Given the description of an element on the screen output the (x, y) to click on. 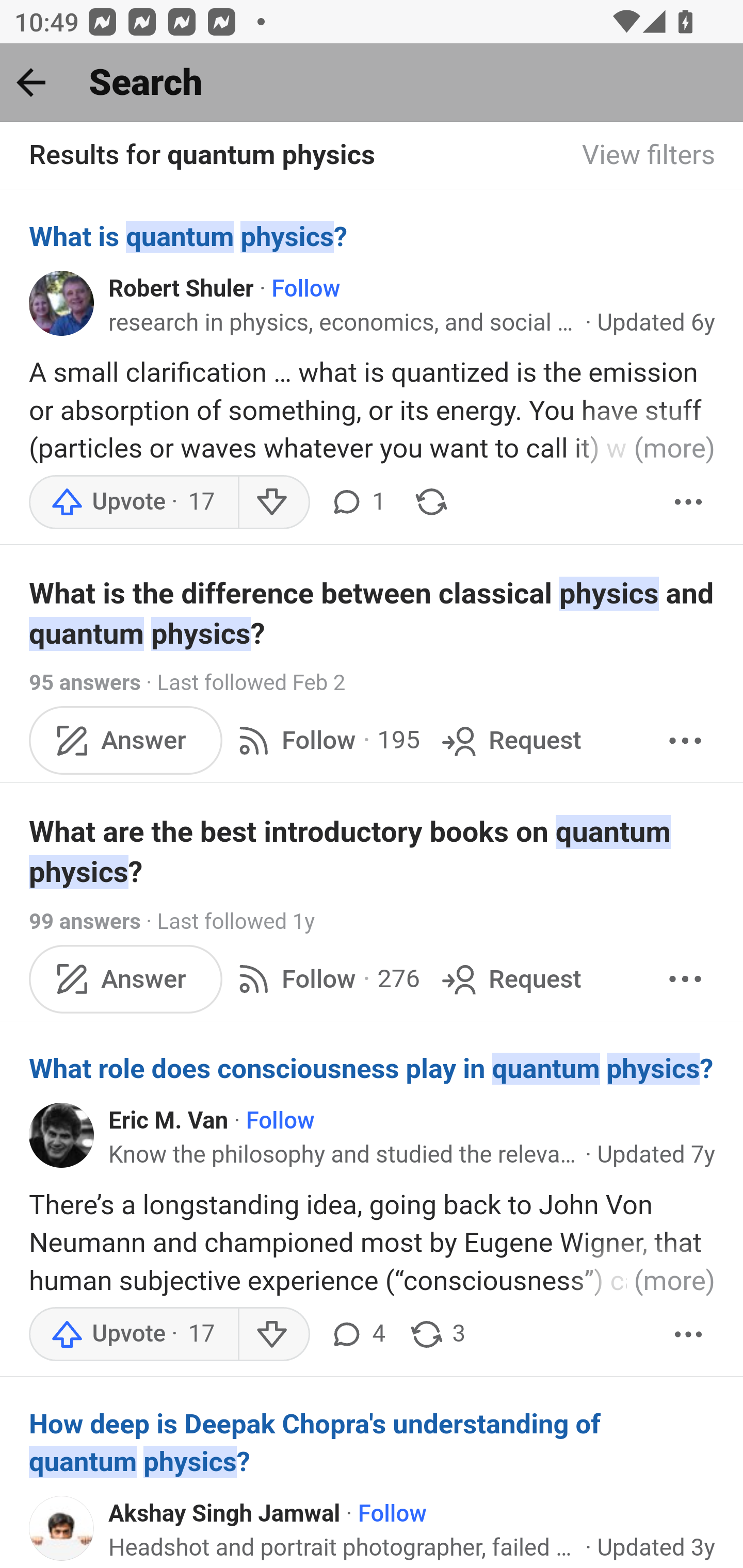
Back Search (371, 82)
Back (30, 82)
View filters (648, 155)
What is quantum physics? (372, 236)
Profile photo for Robert Shuler (61, 302)
Robert Shuler (181, 289)
Follow (306, 289)
Updated 6y Updated  6 y (655, 322)
Upvote (133, 501)
Downvote (273, 501)
1 comment (357, 501)
Share (430, 501)
More (688, 501)
95 answers 95  answers (84, 684)
Answer (125, 740)
Follow · 195 (324, 740)
Request (509, 740)
More (684, 740)
99 answers 99  answers (84, 922)
Answer (125, 978)
Follow · 276 (324, 978)
Request (509, 978)
More (684, 978)
Profile photo for Eric M. Van (61, 1135)
Eric M. Van (168, 1121)
Follow (280, 1121)
Updated 7y Updated  7 y (655, 1153)
Upvote (133, 1333)
Downvote (273, 1333)
4 comments (357, 1333)
3 shares (436, 1333)
More (688, 1333)
Profile photo for Akshay Singh Jamwal (61, 1527)
Akshay Singh Jamwal (224, 1514)
Follow (392, 1514)
Updated 3y Updated  3 y (655, 1547)
